Given the description of an element on the screen output the (x, y) to click on. 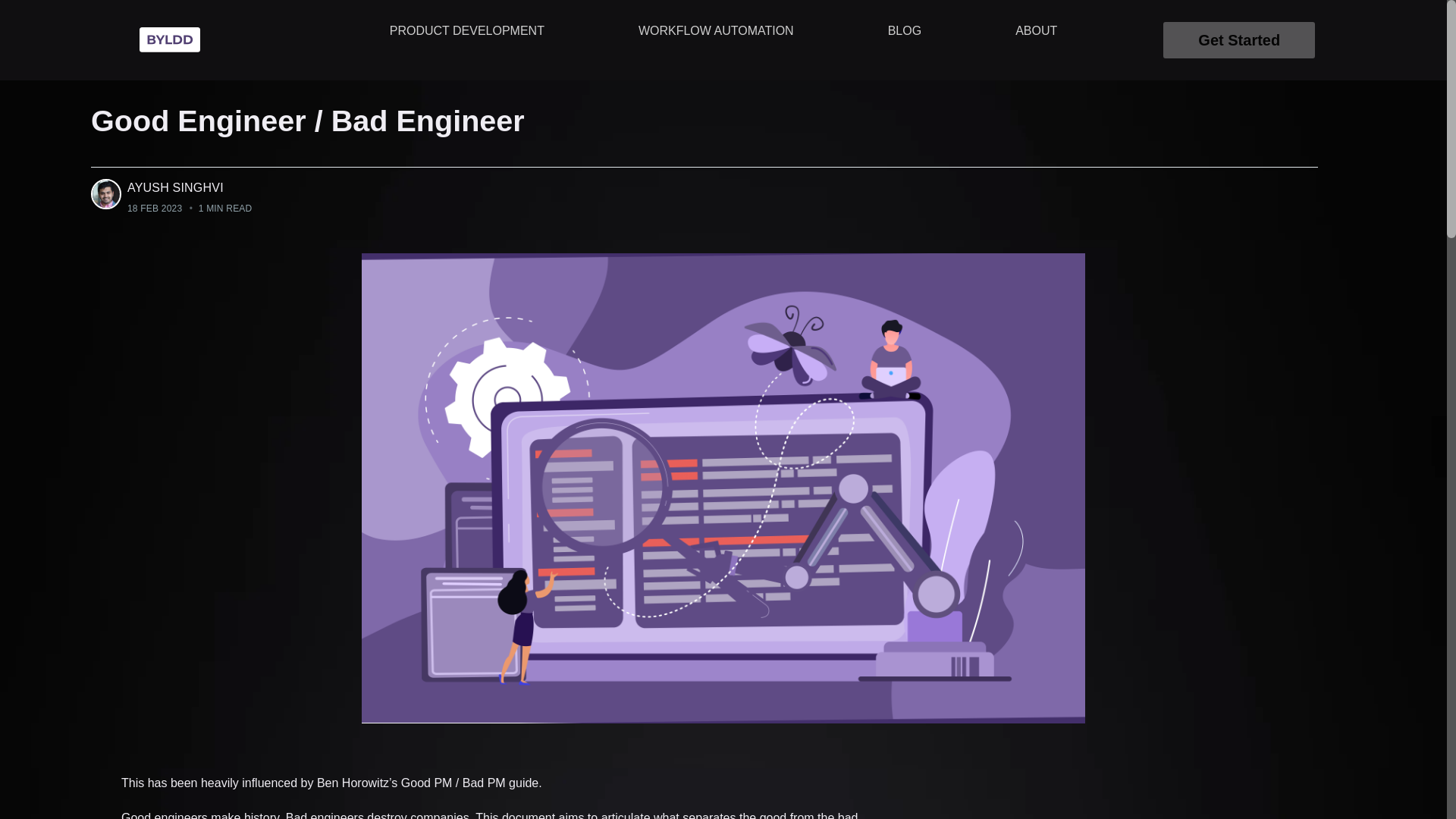
BLOG (904, 30)
Get Started (1238, 40)
WORKFLOW AUTOMATION (715, 30)
ABOUT (1035, 30)
AYUSH SINGHVI (176, 187)
PRODUCT DEVELOPMENT (466, 30)
